Given the description of an element on the screen output the (x, y) to click on. 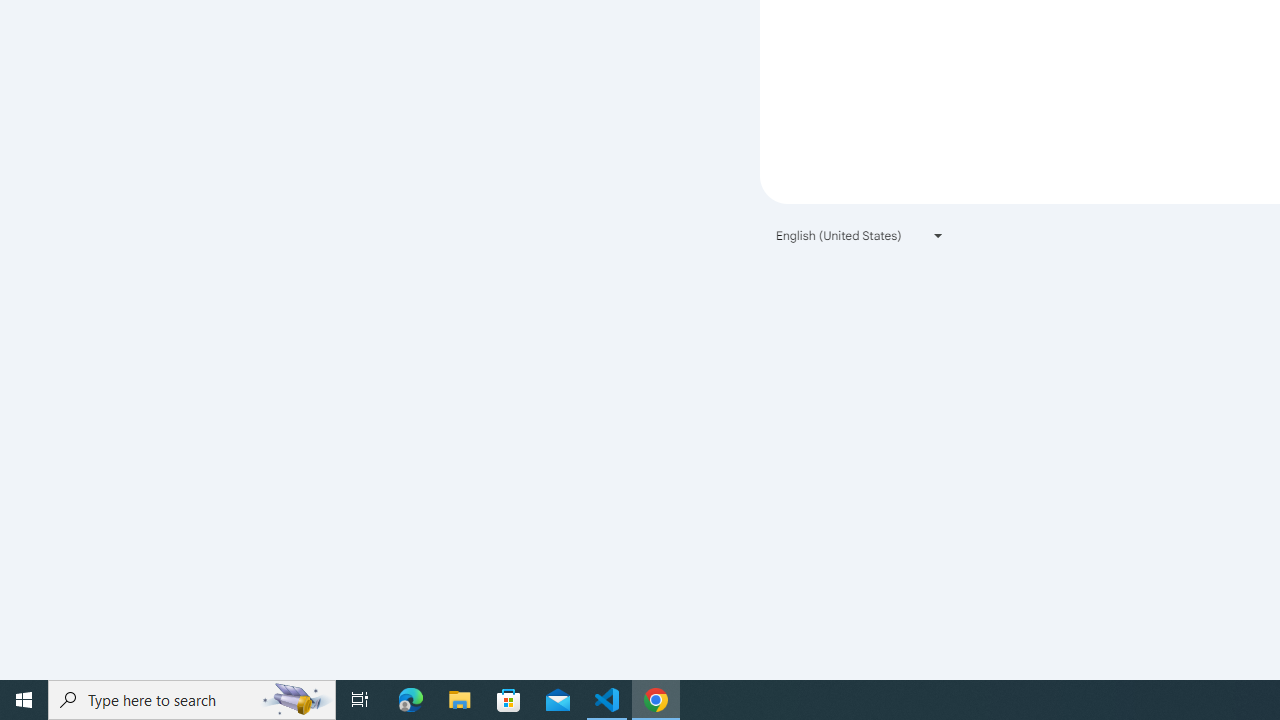
English (United States) (860, 234)
